Given the description of an element on the screen output the (x, y) to click on. 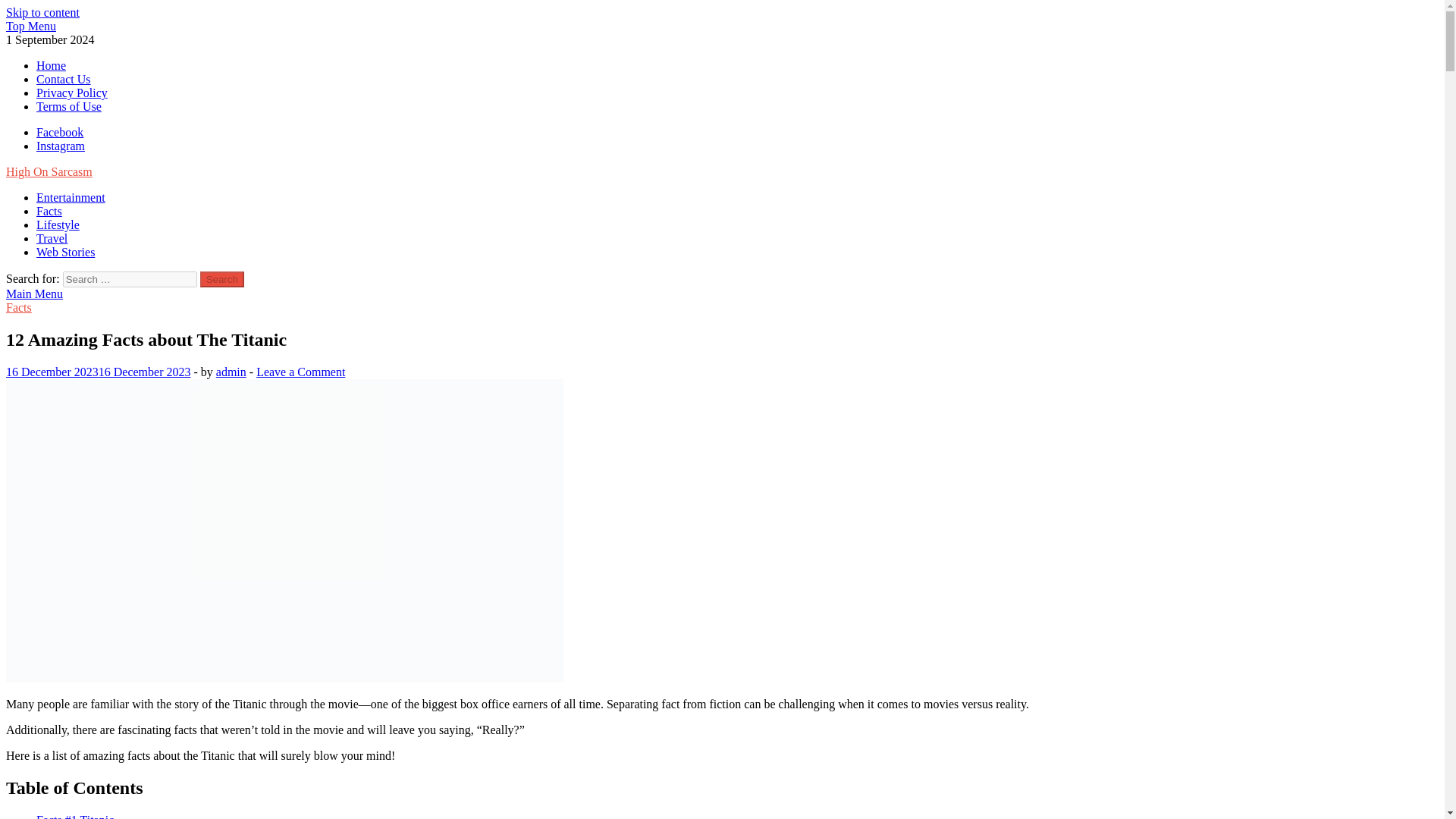
Leave a Comment (300, 371)
Search (222, 279)
Top Menu (30, 25)
Privacy Policy (71, 92)
Facebook (59, 132)
Entertainment (70, 196)
admin (230, 371)
Home (50, 65)
Search (222, 279)
Skip to content (42, 11)
